Given the description of an element on the screen output the (x, y) to click on. 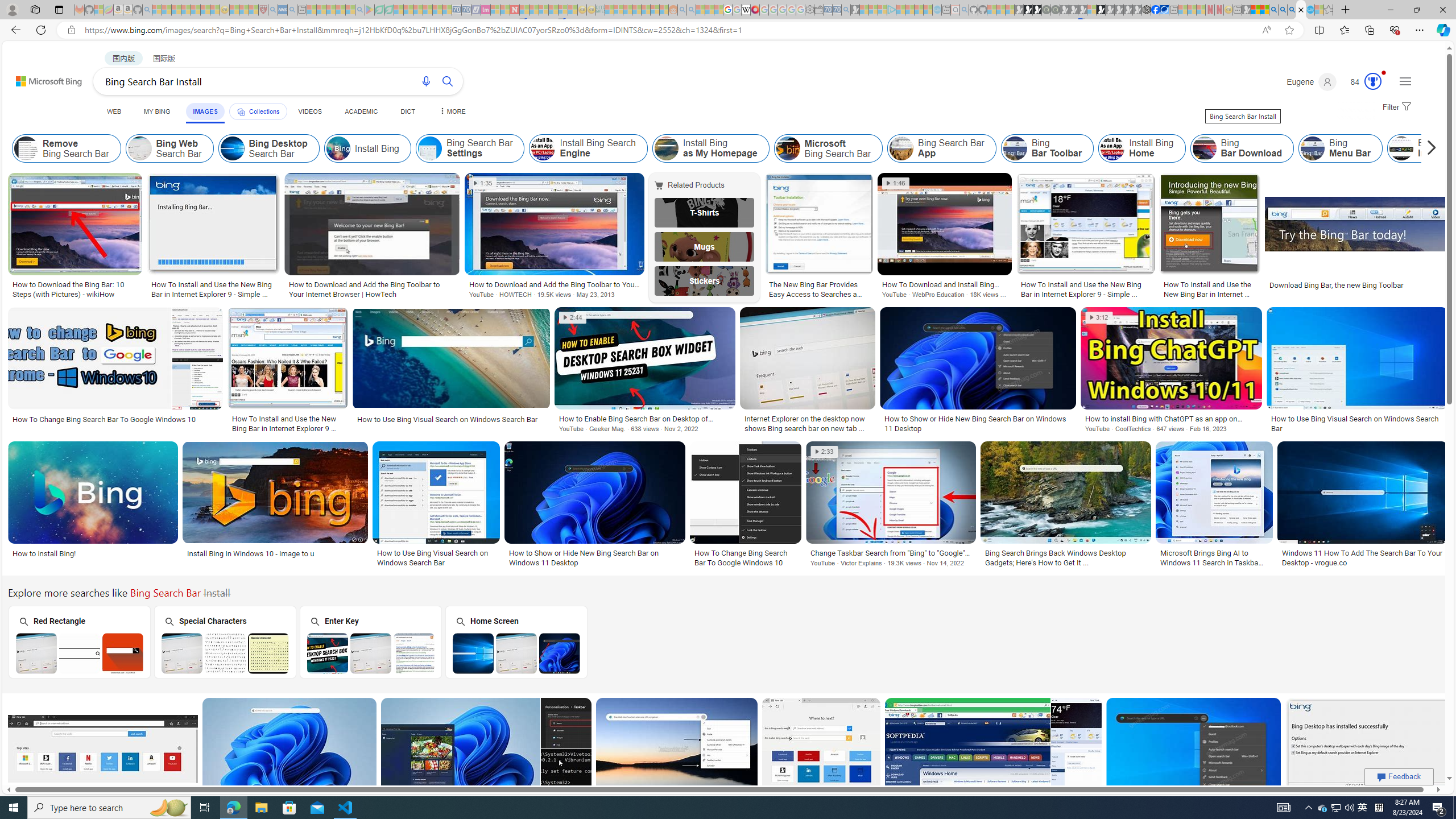
Search using voice (426, 80)
Bing Bar Download (1204, 148)
MediaWiki (754, 9)
Install Bing as My Homepage (710, 148)
2:44 (572, 317)
Pets - MSN - Sleeping (340, 9)
